Given the description of an element on the screen output the (x, y) to click on. 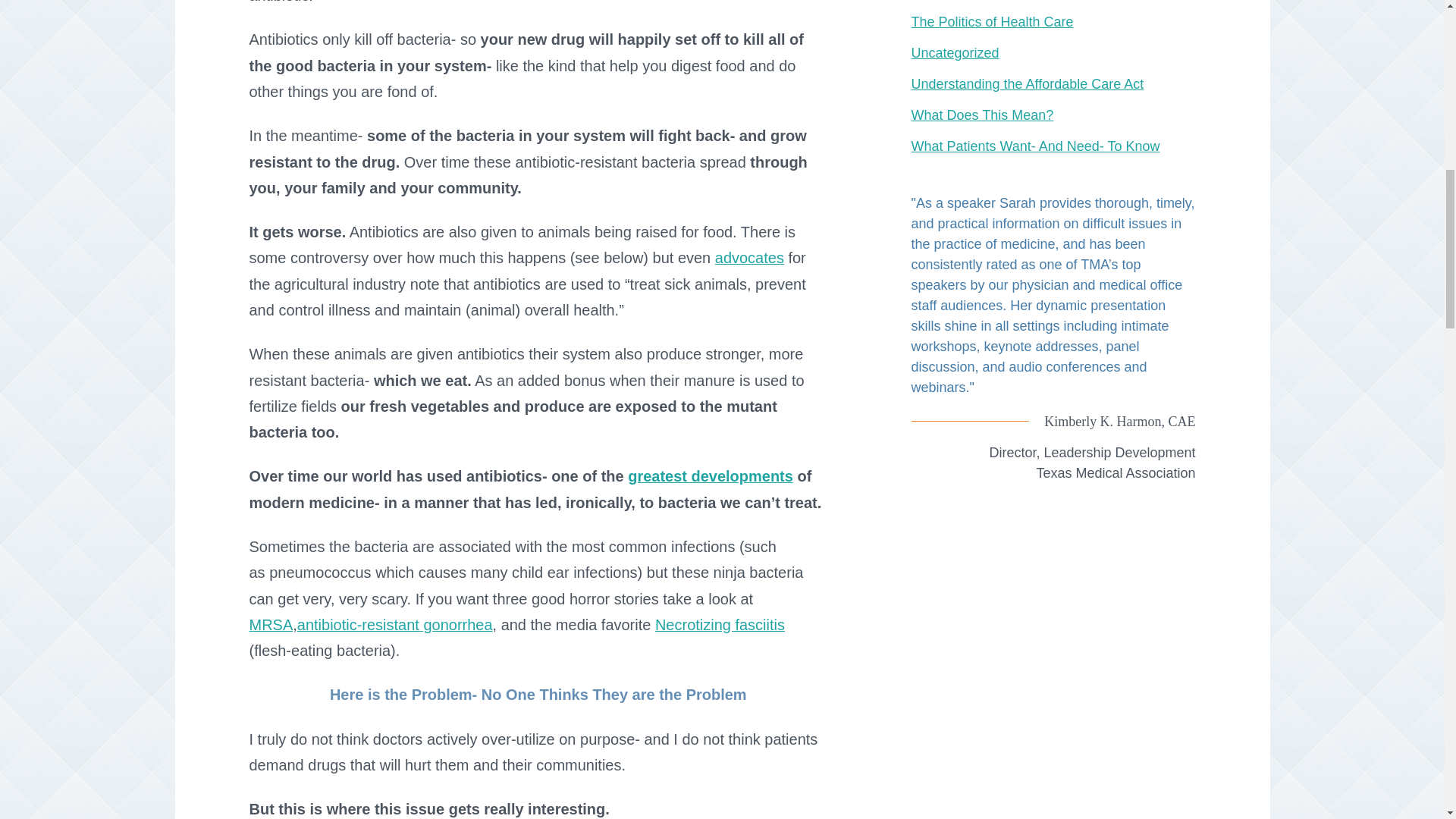
Necrotizing fasciitis (719, 624)
The Politics of Health Care (992, 21)
Uncategorized (954, 52)
advocates (749, 257)
antibiotic-resistant gonorrhea (395, 624)
greatest developments (710, 475)
MRSA (270, 624)
